Given the description of an element on the screen output the (x, y) to click on. 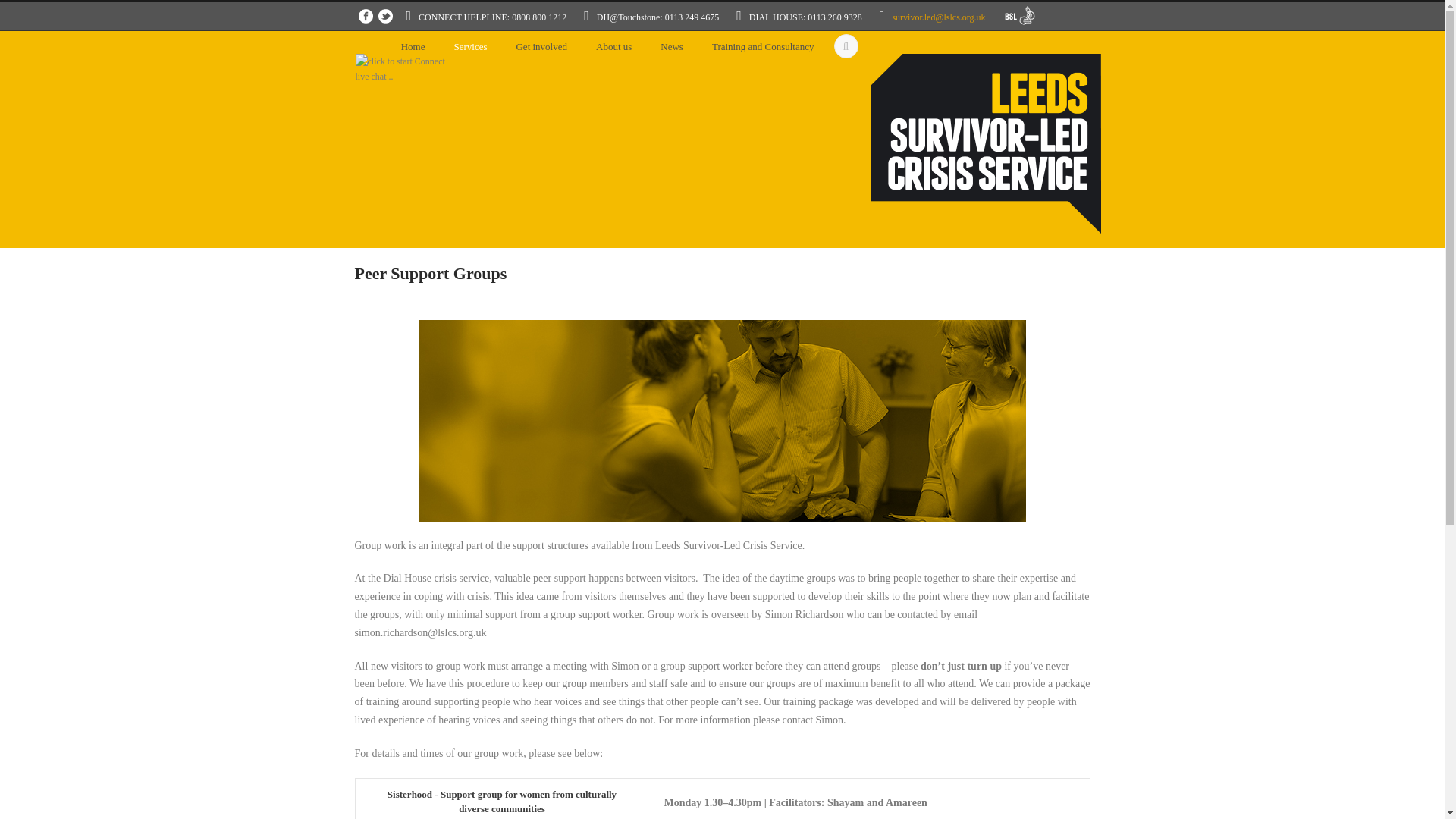
click to start Connect live chat .. (402, 69)
About us (613, 50)
Get involved (541, 50)
Services (469, 50)
